Given the description of an element on the screen output the (x, y) to click on. 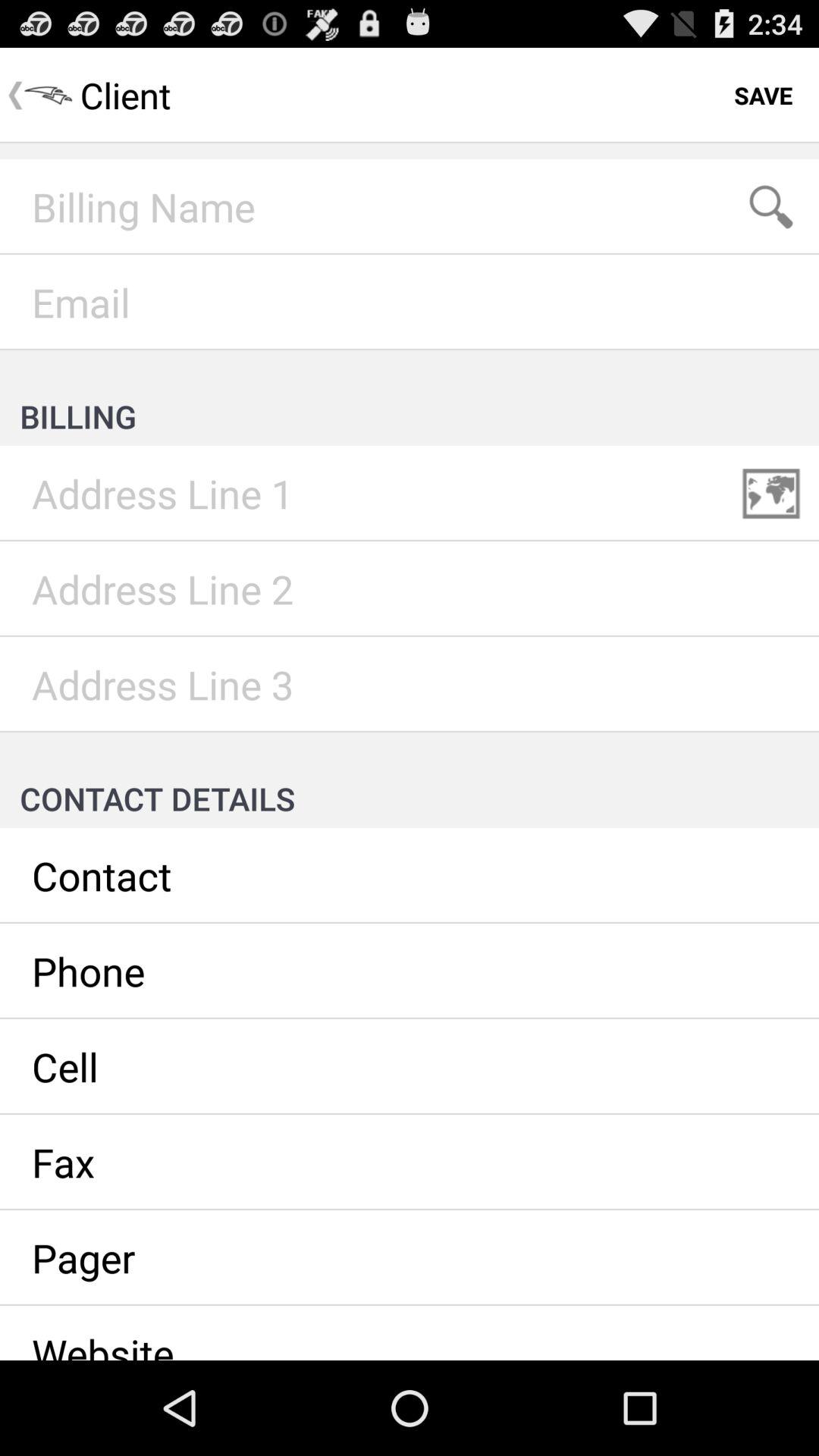
chose cell (409, 1066)
